Given the description of an element on the screen output the (x, y) to click on. 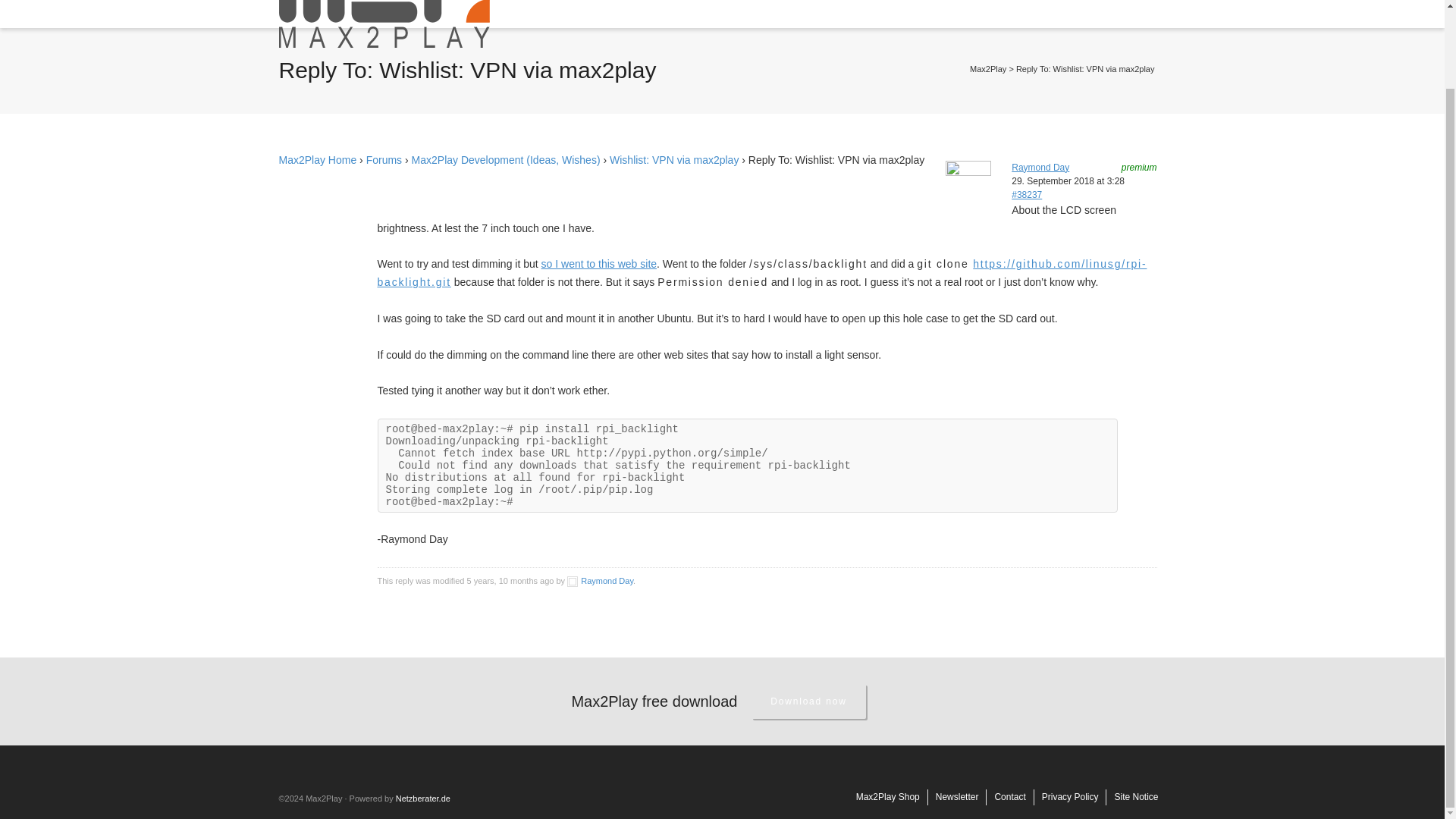
Gehe zu Max2Play. (987, 68)
Reply To: Wishlist: VPN via max2play (1026, 194)
View Raymond Day's profile (600, 580)
